Given the description of an element on the screen output the (x, y) to click on. 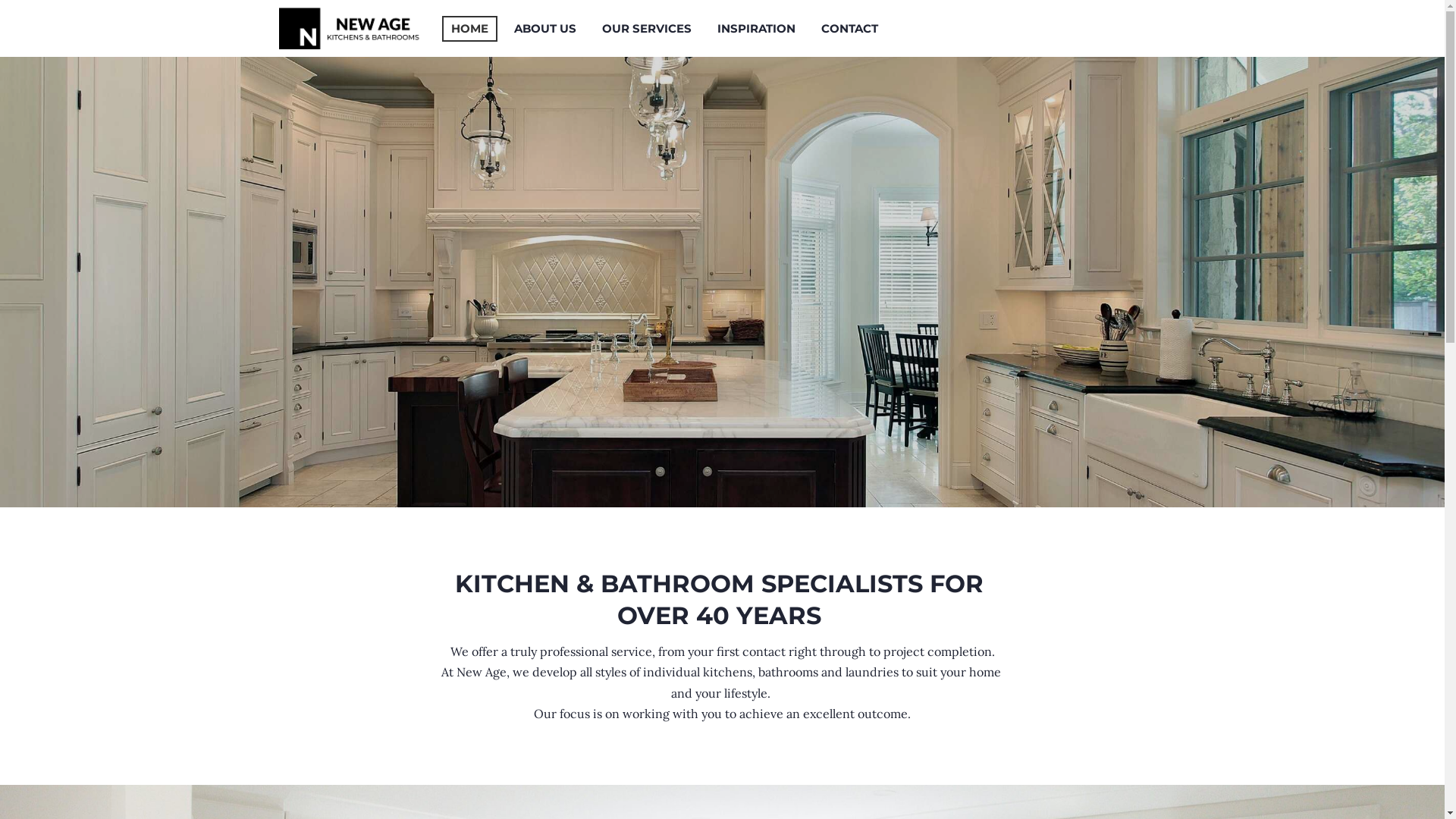
HOME Element type: text (468, 27)
CONTACT Element type: text (848, 27)
ABOUT US Element type: text (545, 27)
OUR SERVICES Element type: text (646, 27)
INSPIRATION Element type: text (756, 27)
